Given the description of an element on the screen output the (x, y) to click on. 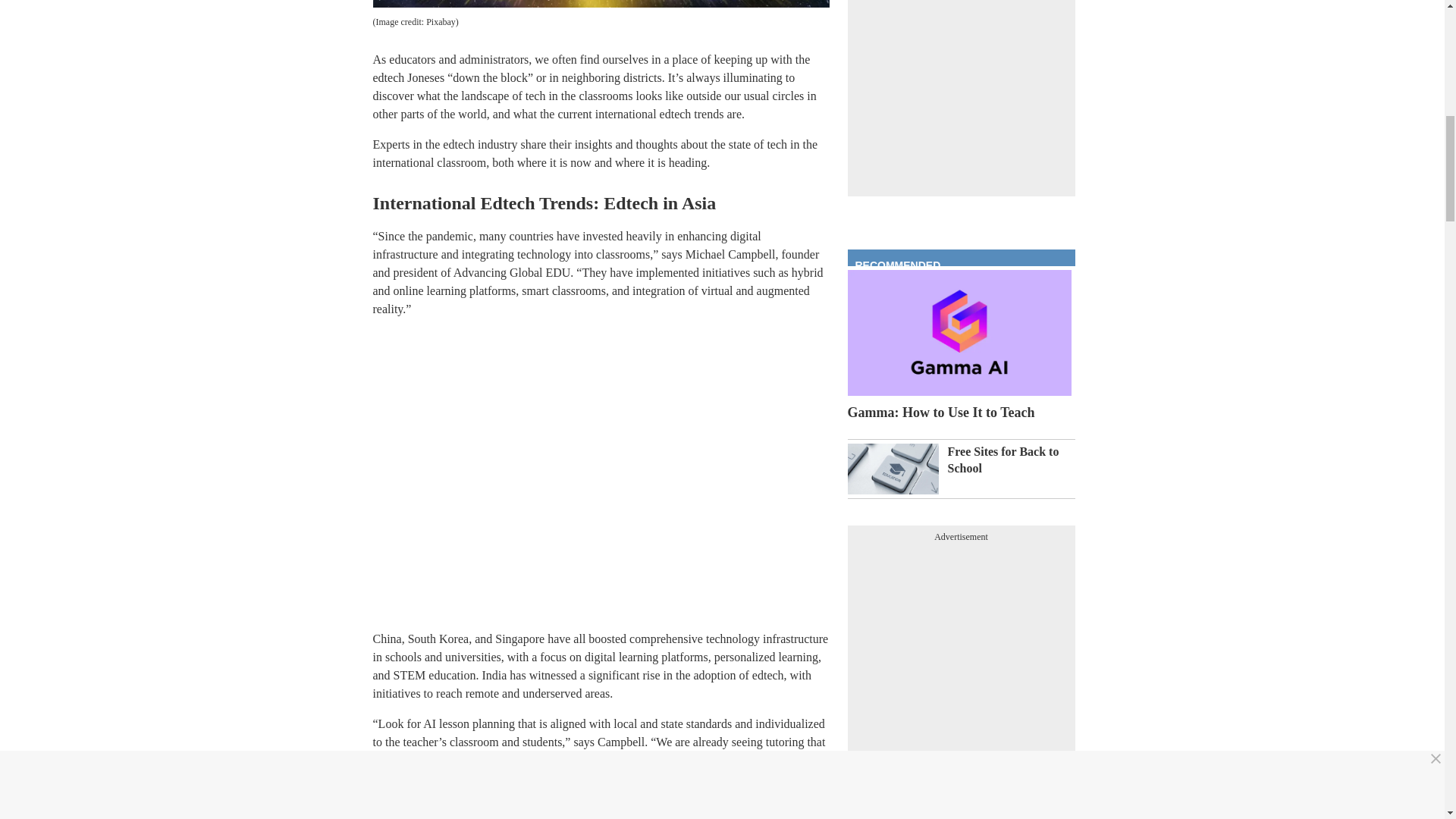
Advertisement (961, 642)
